Given the description of an element on the screen output the (x, y) to click on. 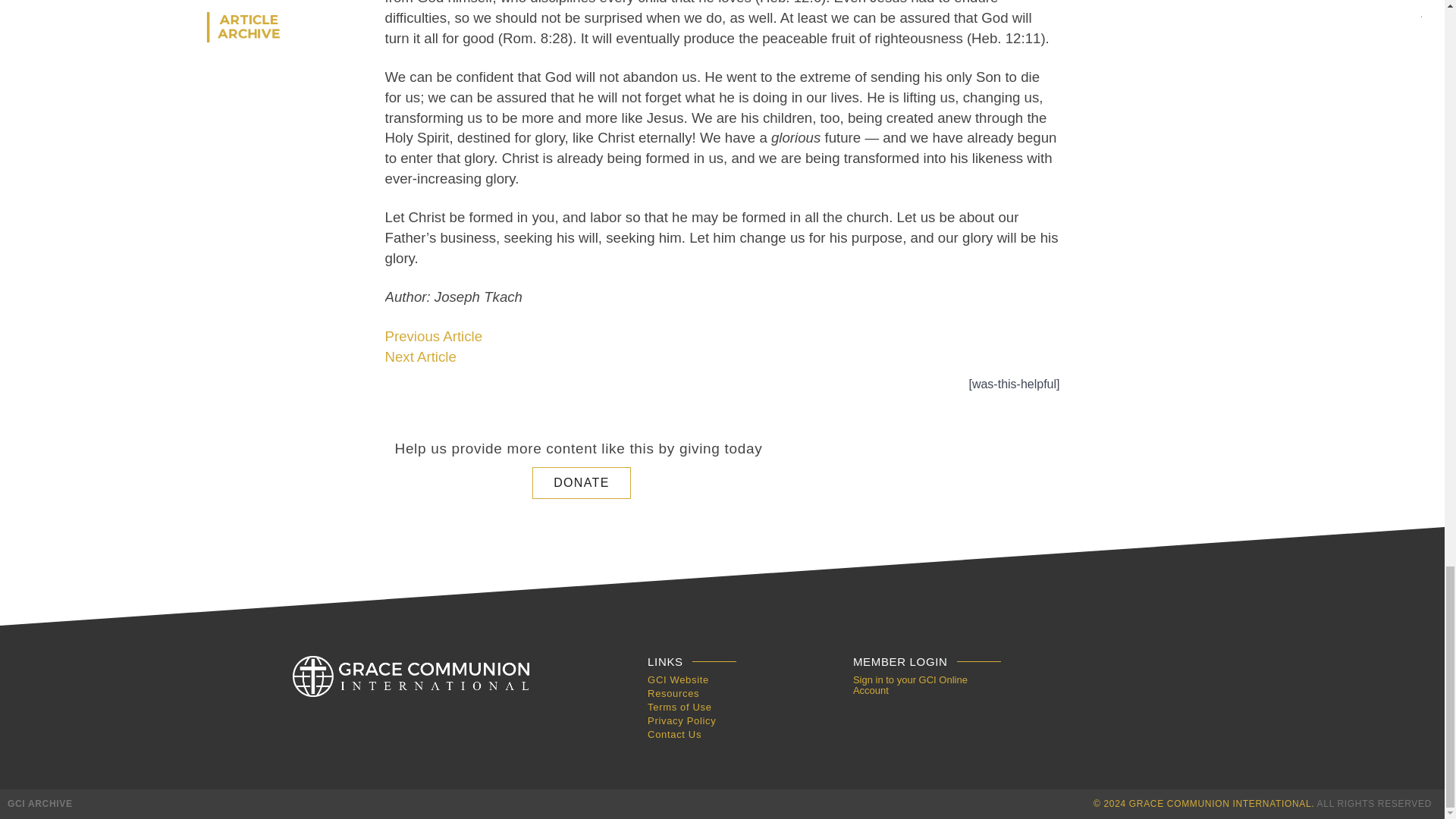
Grace Communion International (39, 803)
GCI Archive (410, 676)
